Given the description of an element on the screen output the (x, y) to click on. 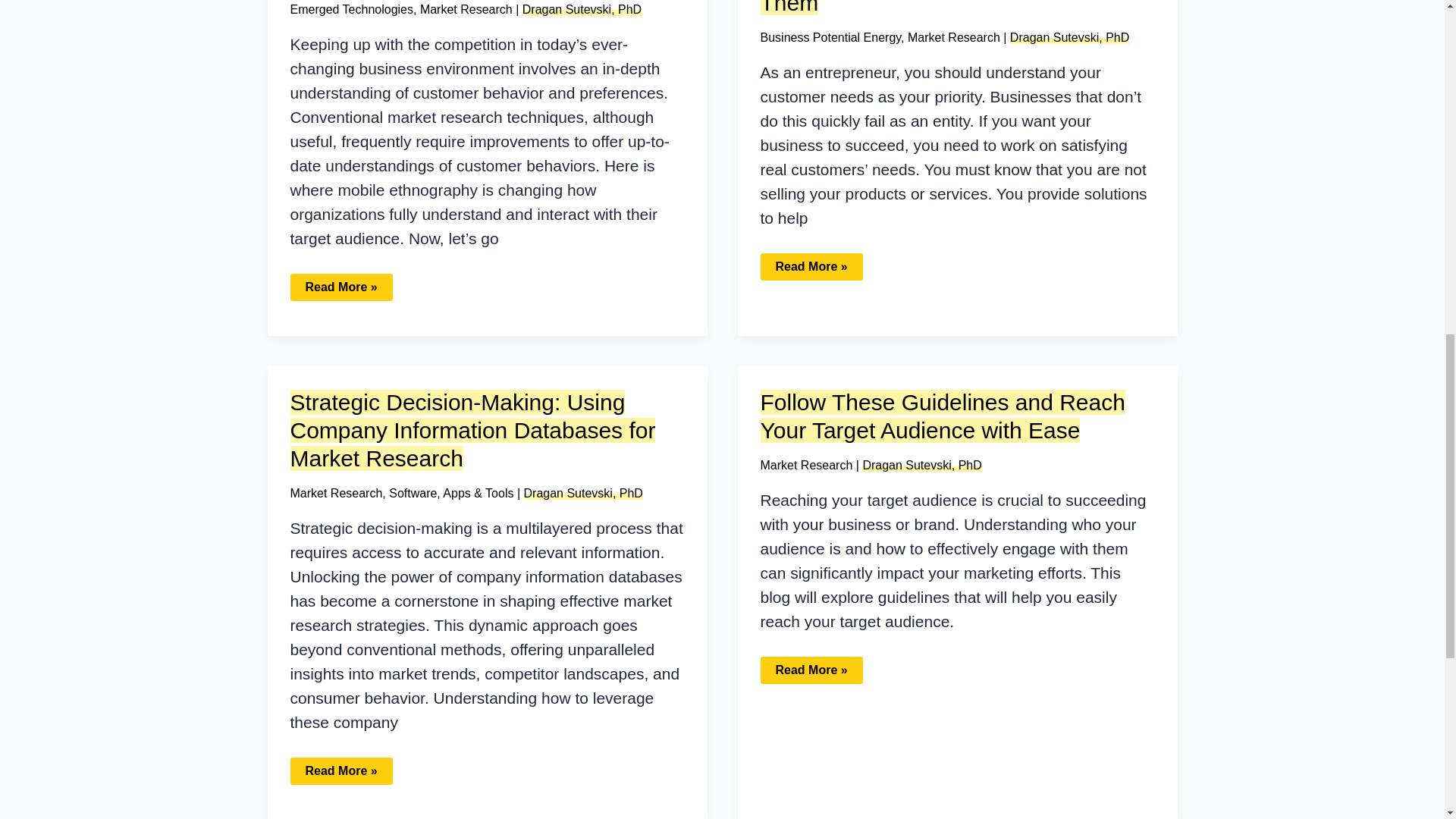
Market Research (953, 37)
Emerged Technologies (350, 9)
Dragan Sutevski, PhD (583, 492)
Dragan Sutevski, PhD (1069, 37)
View all posts by Dragan Sutevski, PhD (1069, 37)
Market Research (466, 9)
Business Potential Energy (830, 37)
View all posts by Dragan Sutevski, PhD (921, 464)
Market Research (335, 492)
View all posts by Dragan Sutevski, PhD (582, 9)
View all posts by Dragan Sutevski, PhD (583, 492)
Dragan Sutevski, PhD (582, 9)
